Given the description of an element on the screen output the (x, y) to click on. 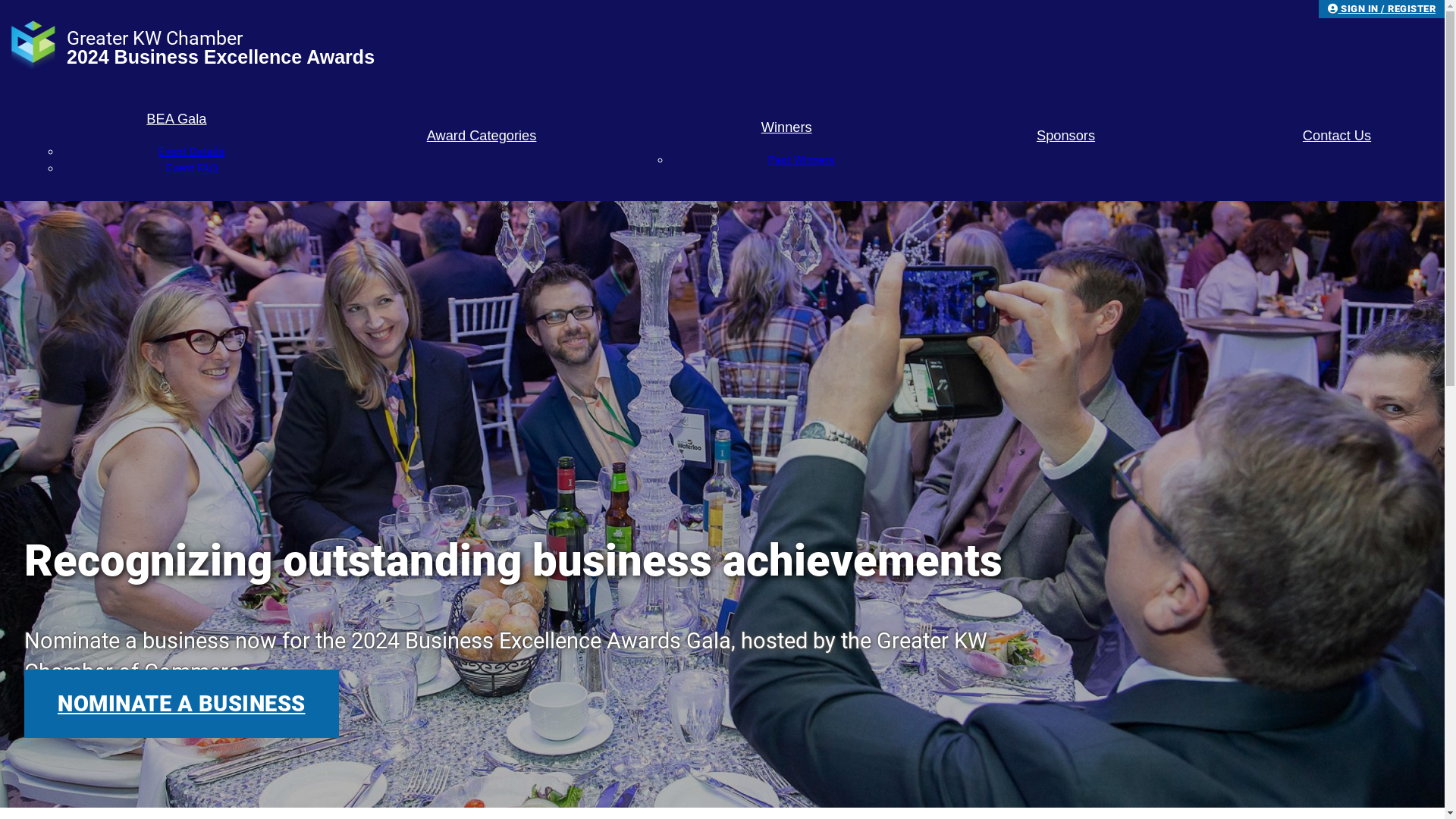
SIGN IN / REGISTER Element type: text (1381, 9)
NOMINATE A BUSINESS Element type: text (181, 703)
Sponsors Element type: text (1065, 135)
Greater KW Chamber
2024 Business Excellence Awards Element type: text (722, 47)
Winners Element type: text (786, 127)
Event FAQ Element type: text (191, 168)
Past Winners Element type: text (801, 159)
Event Details Element type: text (191, 151)
BEA Gala Element type: text (176, 119)
Award Categories Element type: text (481, 135)
